Given the description of an element on the screen output the (x, y) to click on. 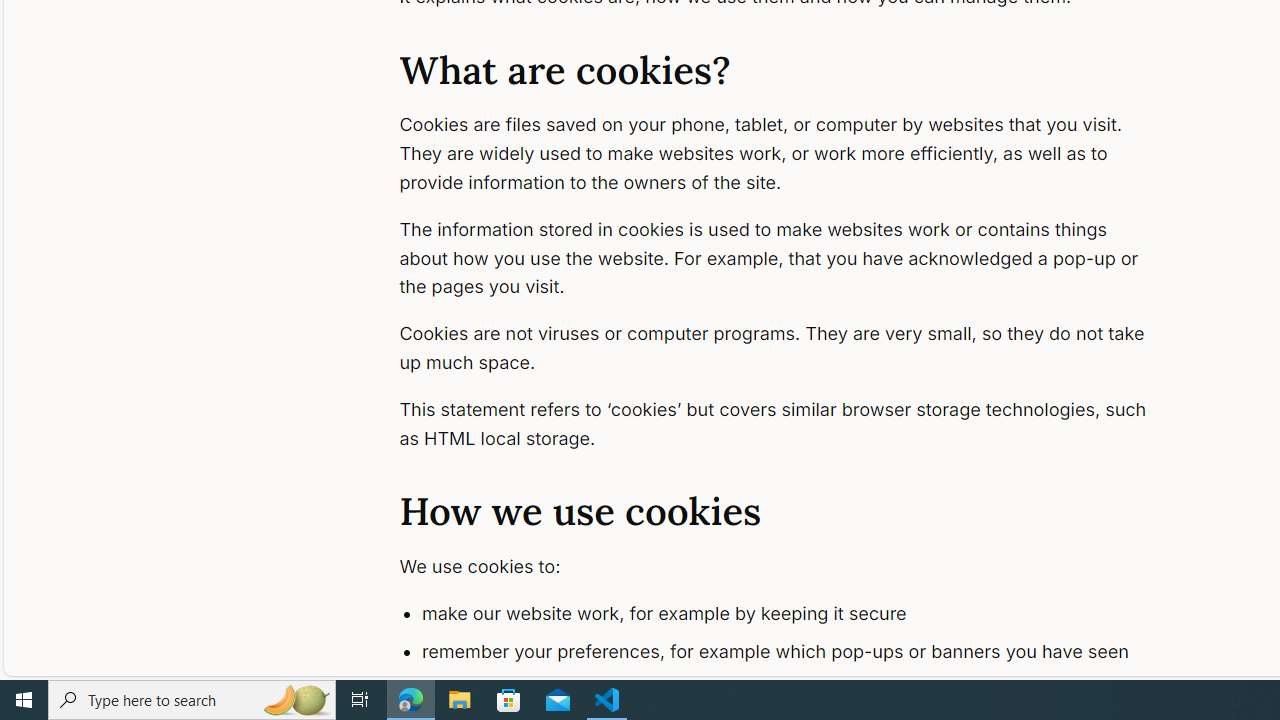
make our website work, for example by keeping it secure (796, 614)
